Given the description of an element on the screen output the (x, y) to click on. 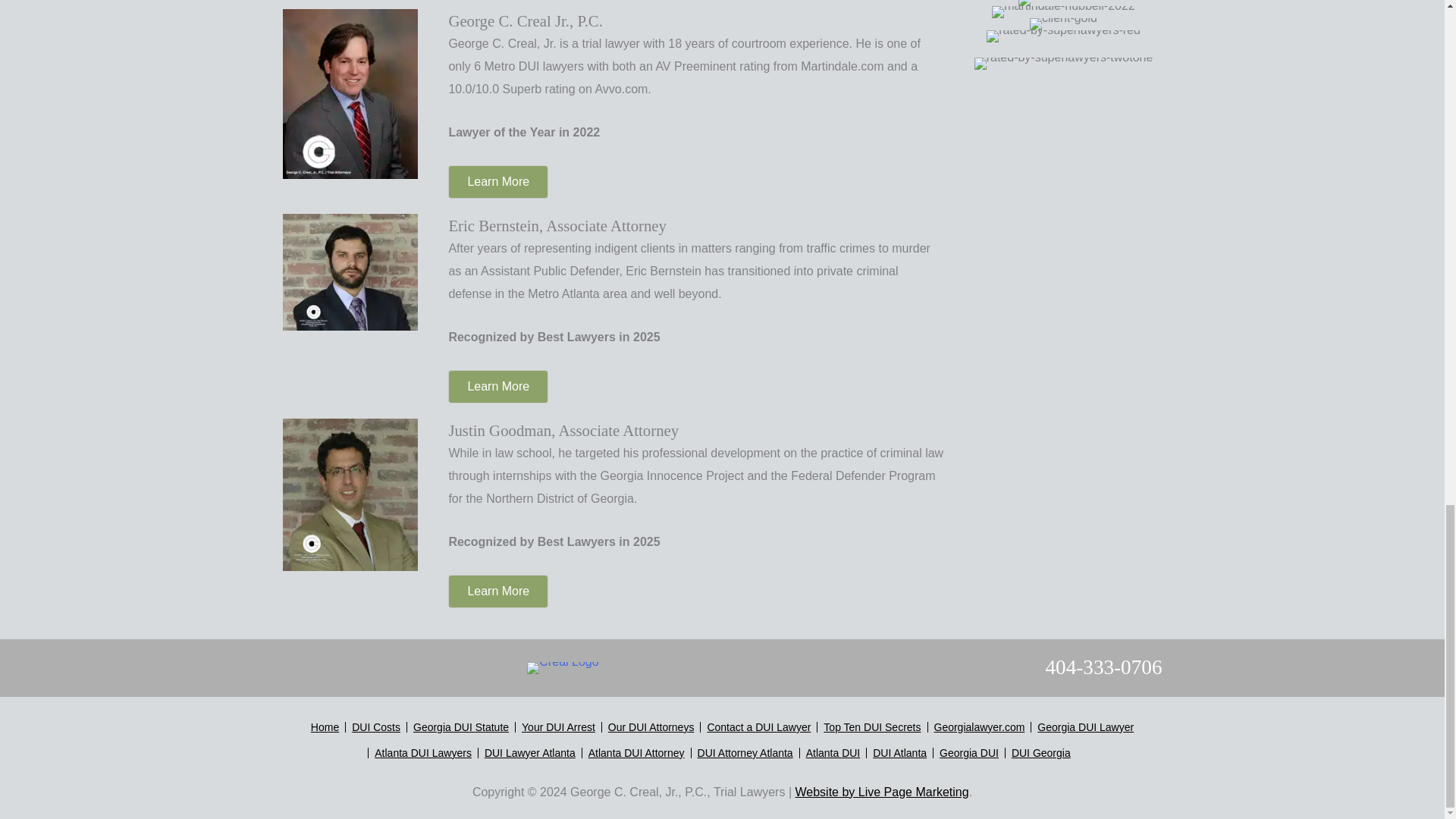
rated-by-superlawyers-red (1063, 34)
George Creal DUI Attorney (349, 92)
bernstein-DUI-attorney (349, 270)
Creal Logo (562, 667)
rated-by-superlawyers-twotone (1063, 62)
client-platinum (1062, 2)
martindale-hubbell-2022 (1063, 10)
justin-dui-atty (349, 493)
client-gold (1063, 22)
